Given the description of an element on the screen output the (x, y) to click on. 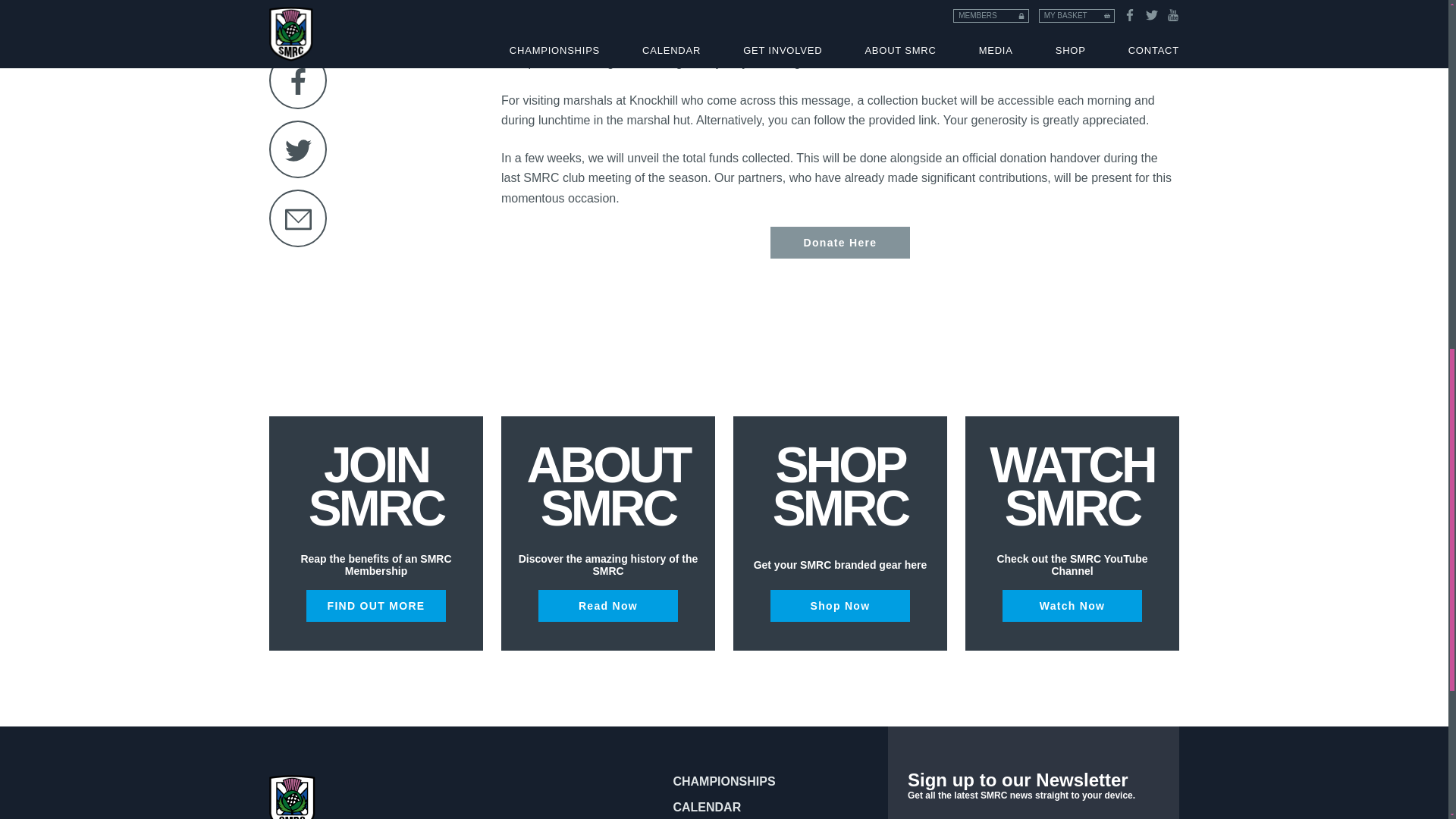
Donate Here (840, 242)
